Given the description of an element on the screen output the (x, y) to click on. 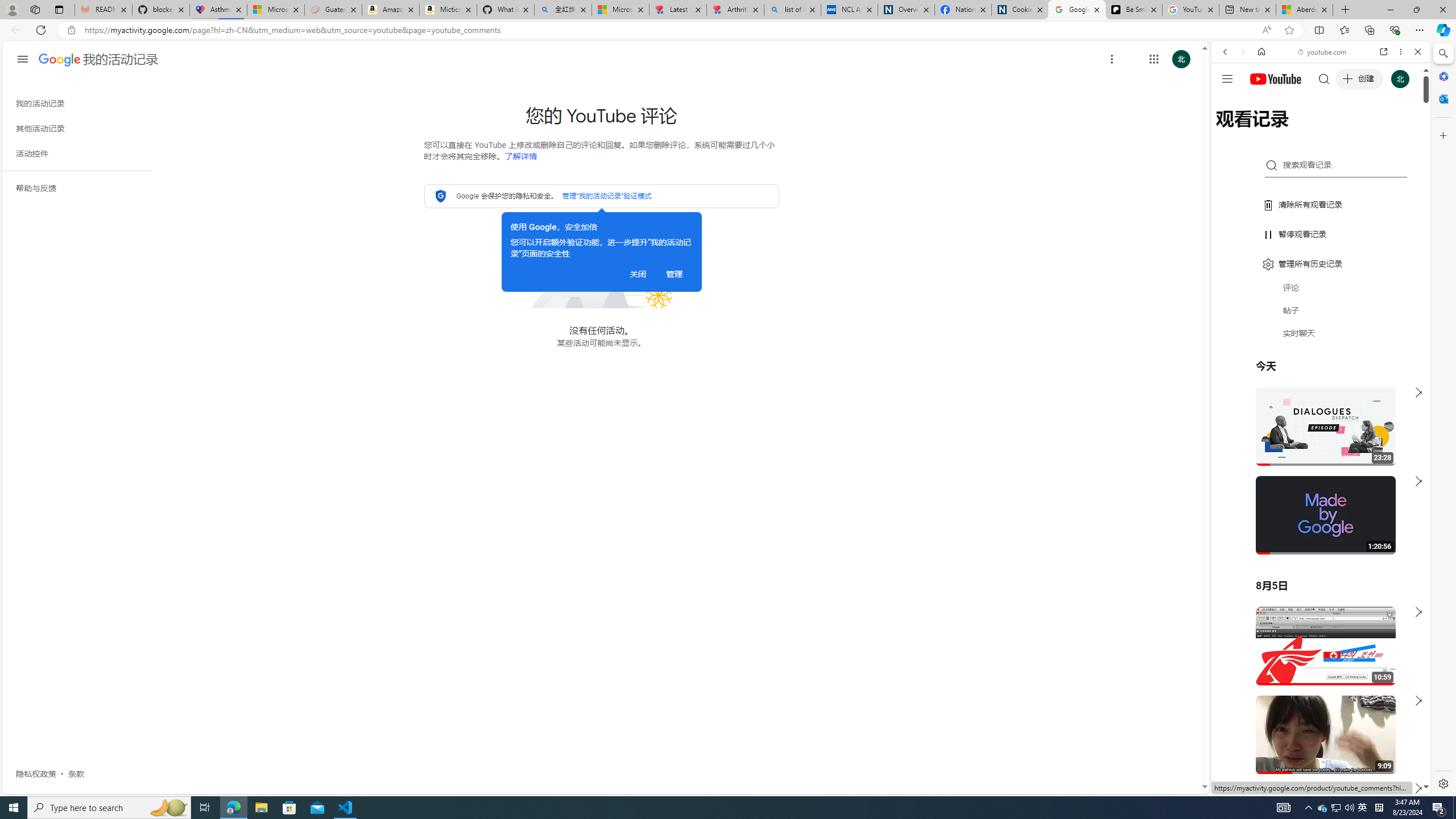
Google (1320, 281)
youtube.com (1322, 51)
you (1315, 755)
